Given the description of an element on the screen output the (x, y) to click on. 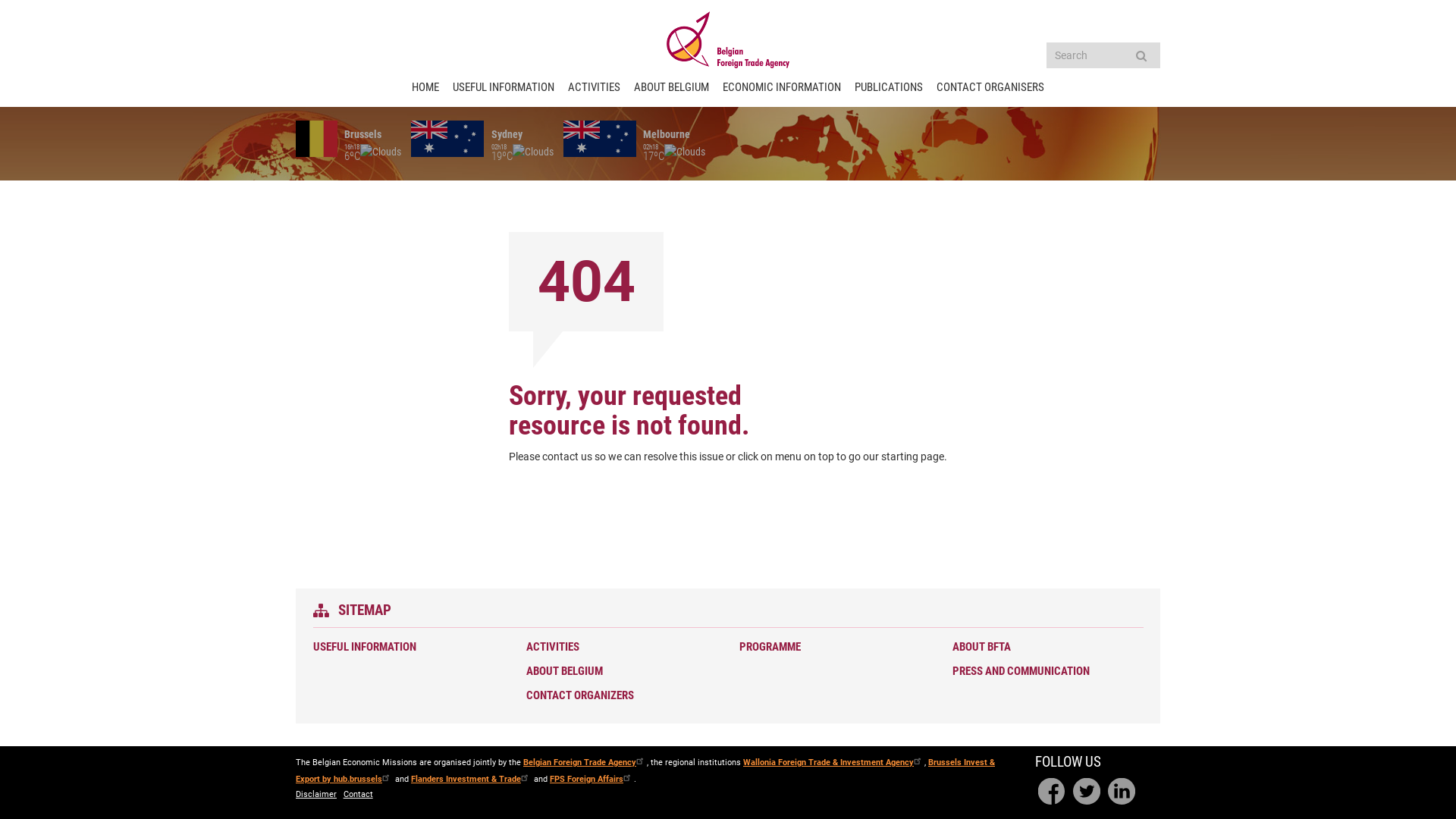
Clouds Element type: hover (532, 152)
ABOUT BELGIUM Element type: text (671, 87)
Flanders Investment & Trade(link is external) Element type: text (471, 778)
CONTACT ORGANISERS Element type: text (990, 87)
HOME Element type: text (425, 87)
ACTIVITIES Element type: text (618, 647)
ECONOMIC INFORMATION Element type: text (781, 87)
Contact Element type: text (358, 795)
ABOUT BELGIUM Element type: text (618, 671)
CONTACT ORGANIZERS Element type: text (618, 695)
USEFUL INFORMATION Element type: text (404, 647)
Follow us on Facebook Element type: text (1051, 791)
Follow us on Twitter Element type: text (1086, 791)
Clouds Element type: hover (684, 152)
PUBLICATIONS Element type: text (888, 87)
Clouds Element type: hover (380, 152)
Skip to main content Element type: text (0, 0)
Apply Element type: text (1140, 55)
Belgian Foreign Trade Agency(link is external) Element type: text (584, 762)
Brussels Invest & Export by hub.brussels(link is external) Element type: text (644, 770)
Back to the home page Element type: hover (727, 39)
FPS Foreign Affairs(link is external) Element type: text (591, 778)
ABOUT BFTA Element type: text (1044, 647)
PRESS AND COMMUNICATION Element type: text (1044, 671)
Follow us on LinkedIn Element type: text (1121, 791)
PROGRAMME Element type: text (831, 647)
Disclaimer Element type: text (315, 795)
ACTIVITIES Element type: text (593, 87)
Wallonia Foreign Trade & Investment Agency(link is external) Element type: text (833, 762)
USEFUL INFORMATION Element type: text (503, 87)
